Given the description of an element on the screen output the (x, y) to click on. 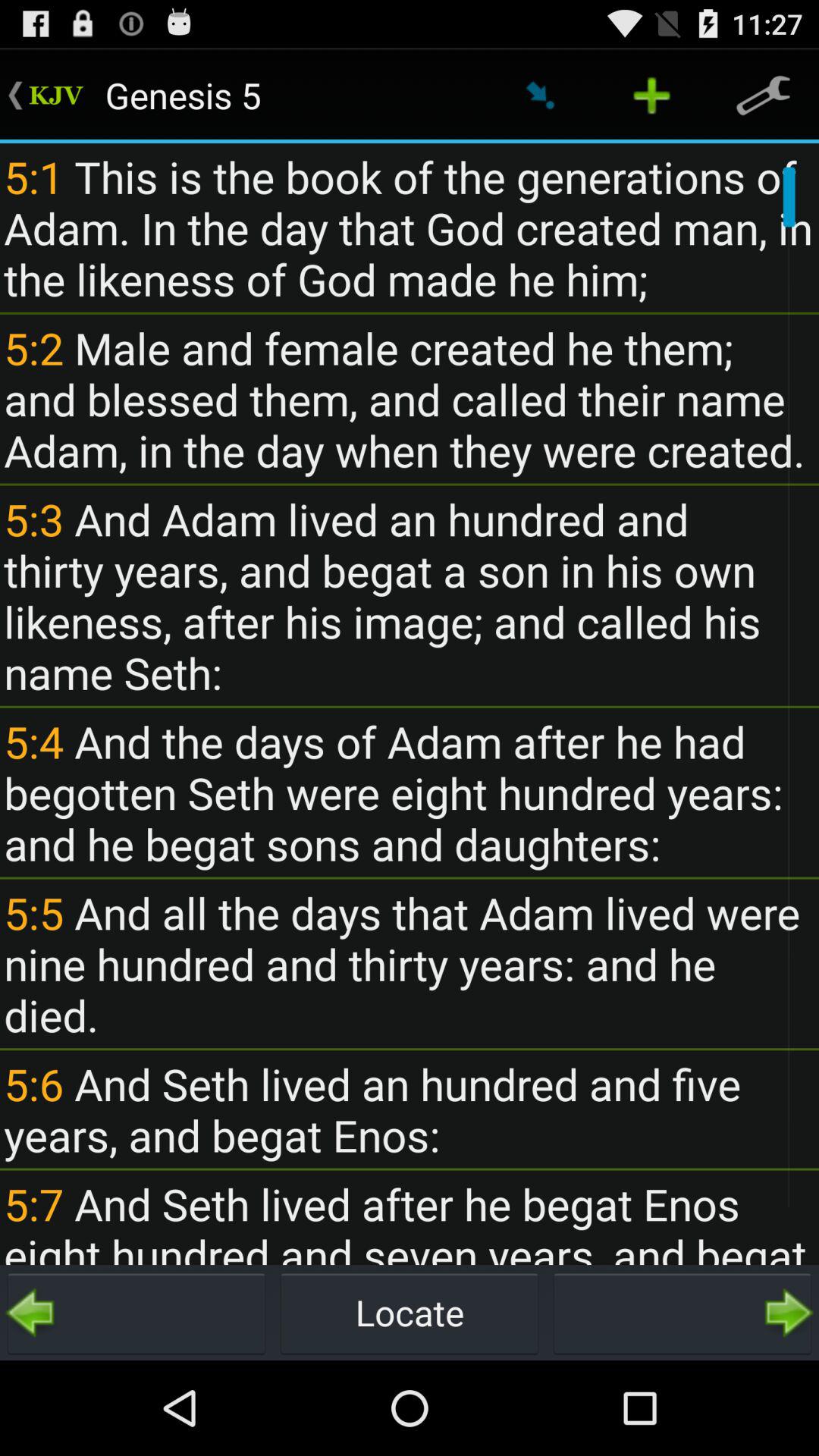
launch button next to the locate button (136, 1312)
